Given the description of an element on the screen output the (x, y) to click on. 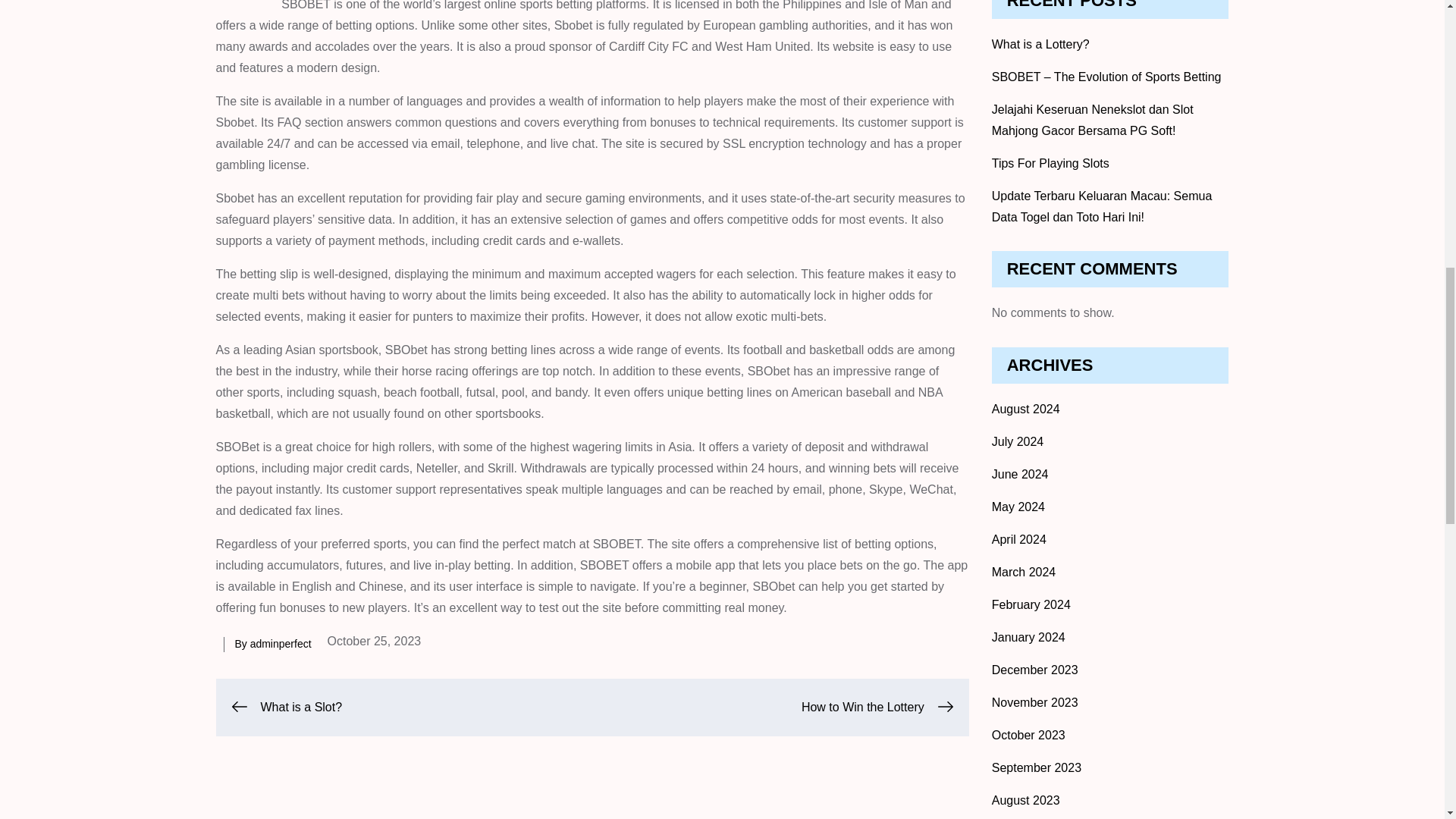
April 2024 (1018, 539)
Tips For Playing Slots (1050, 163)
November 2023 (1034, 702)
August 2023 (1025, 799)
June 2024 (1019, 473)
May 2024 (1018, 506)
March 2024 (1024, 571)
August 2024 (1025, 408)
September 2023 (1036, 767)
July 2024 (1017, 440)
adminperfect (280, 644)
February 2024 (1030, 604)
October 2023 (1028, 735)
What is a Lottery? (1040, 43)
January 2024 (1028, 636)
